Given the description of an element on the screen output the (x, y) to click on. 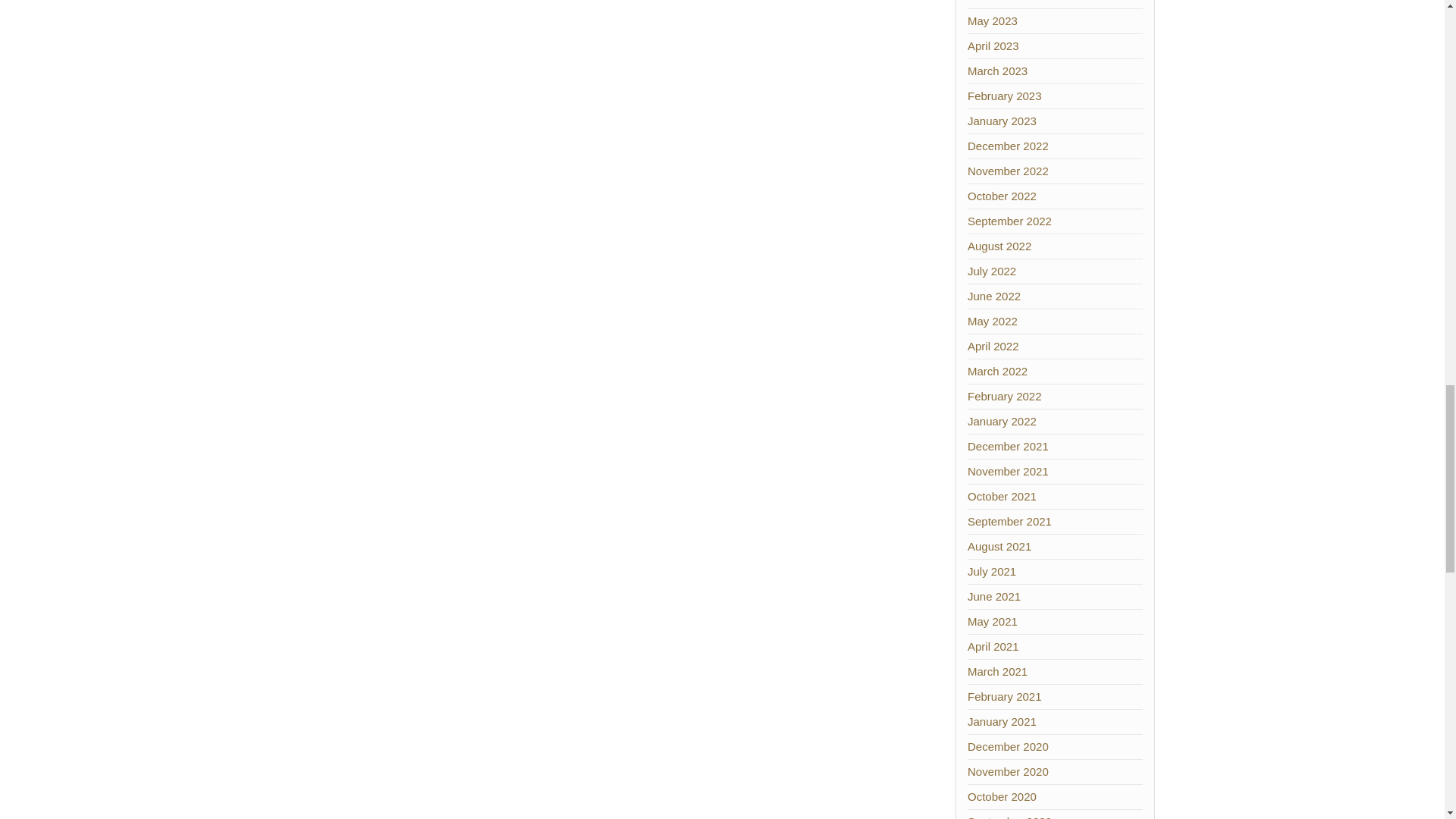
June 2023 (994, 1)
December 2022 (1008, 145)
September 2022 (1009, 220)
October 2022 (1002, 195)
February 2023 (1005, 95)
November 2022 (1008, 170)
April 2023 (993, 45)
January 2023 (1002, 120)
May 2023 (992, 20)
August 2022 (999, 245)
March 2023 (997, 70)
